Given the description of an element on the screen output the (x, y) to click on. 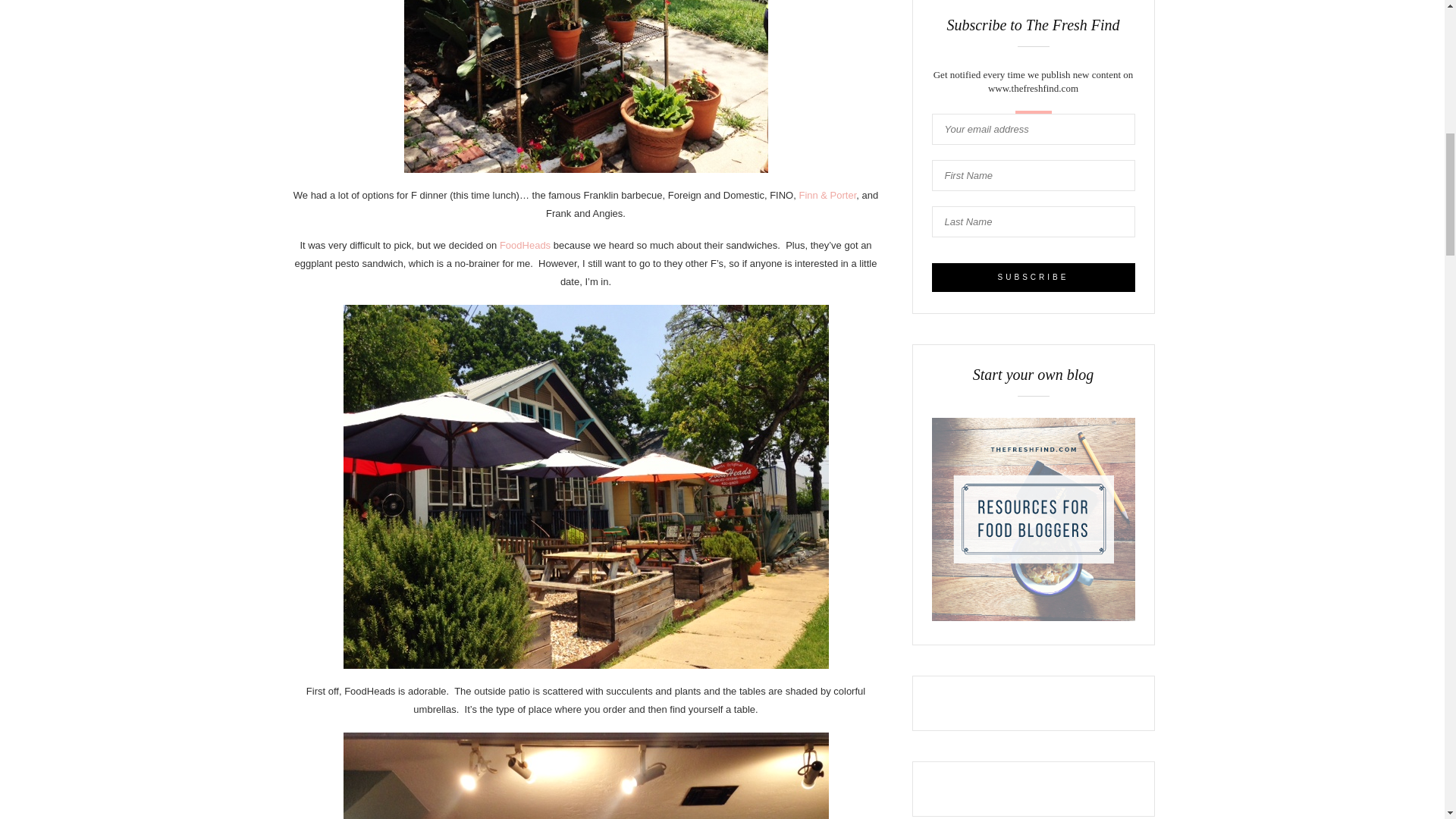
Subscribe (1032, 276)
Resources for Food Bloggers (1032, 617)
Foodheads (524, 244)
